Given the description of an element on the screen output the (x, y) to click on. 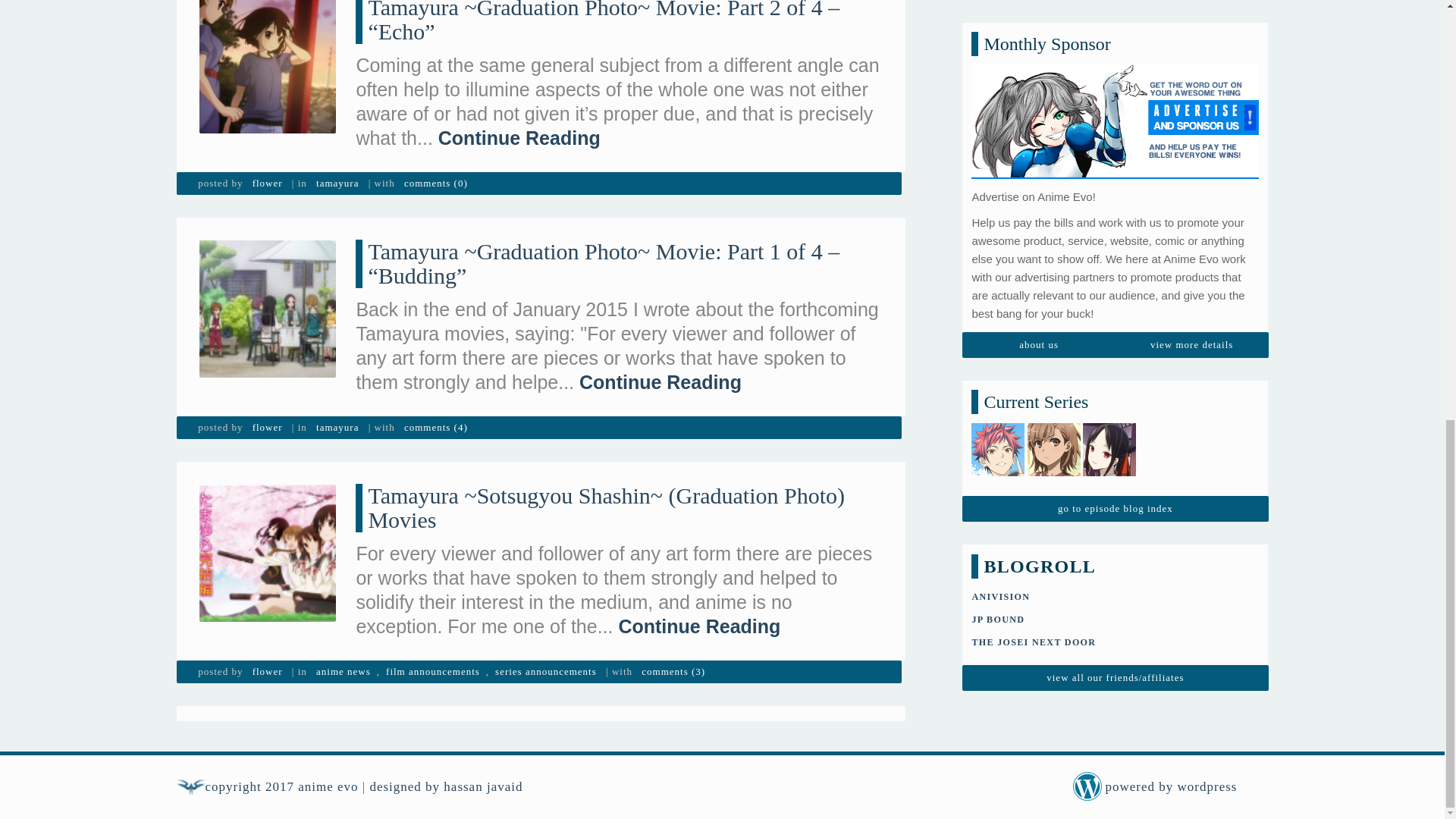
Posts by Flower (267, 427)
flower (267, 427)
flower (267, 182)
Posts by Flower (267, 671)
JP BOUND (998, 95)
Continue Reading (518, 137)
ANIVISION (1000, 72)
THE JOSEI NEXT DOOR (1033, 118)
Continue Reading (660, 382)
tamayura (337, 182)
Posts by Flower (267, 182)
Great Anime Blog run by Dee! (1033, 118)
